Given the description of an element on the screen output the (x, y) to click on. 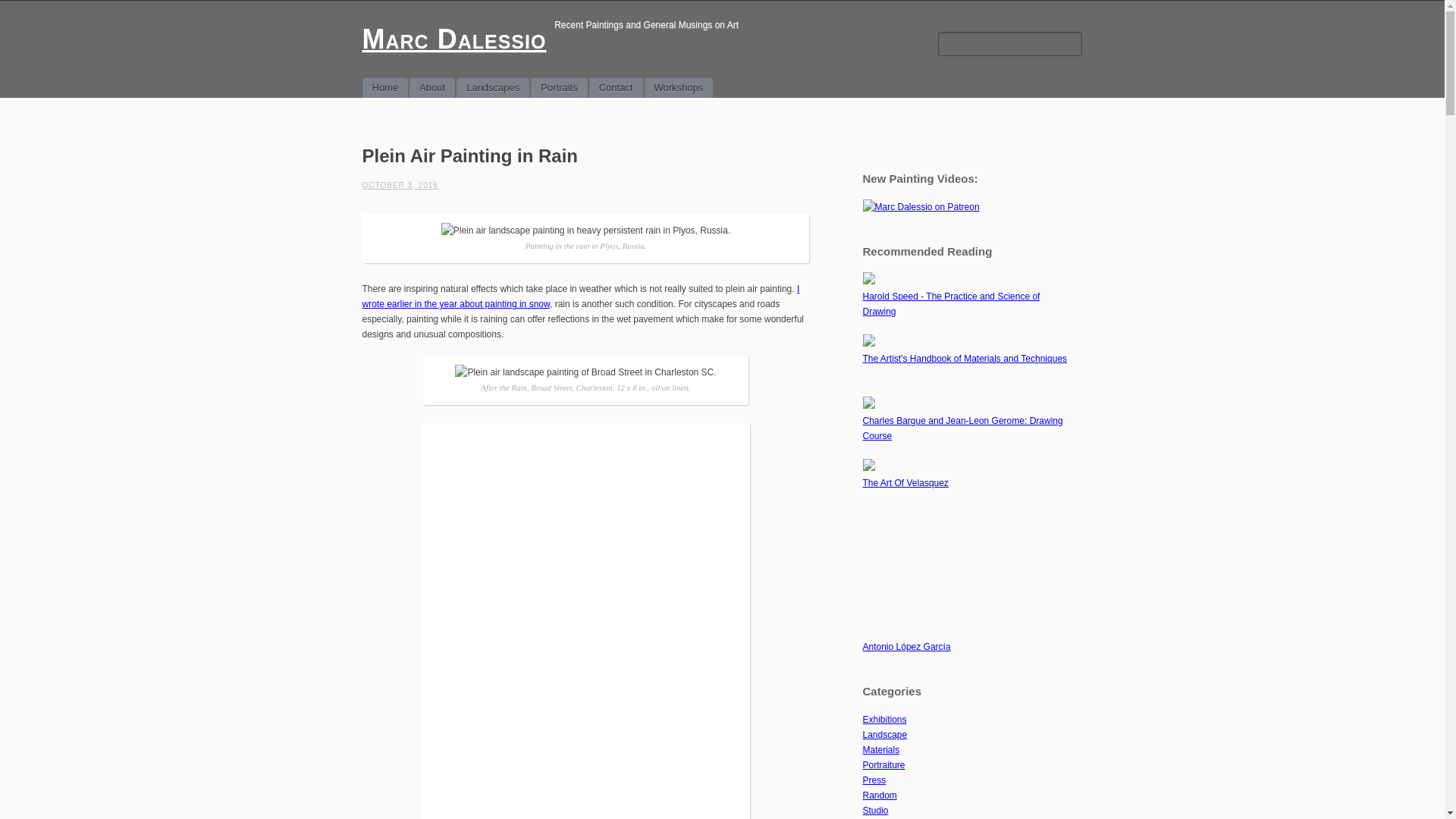
Contact (616, 87)
Search (20, 9)
3:27 pm (400, 184)
About (431, 87)
Landscapes (493, 87)
Workshops (679, 87)
Marc Dalessio (454, 38)
I wrote earlier in the year about painting in snow (580, 296)
Portraits (558, 87)
Marc Dalessio (454, 38)
OCTOBER 3, 2016 (400, 184)
Home (385, 87)
